Given the description of an element on the screen output the (x, y) to click on. 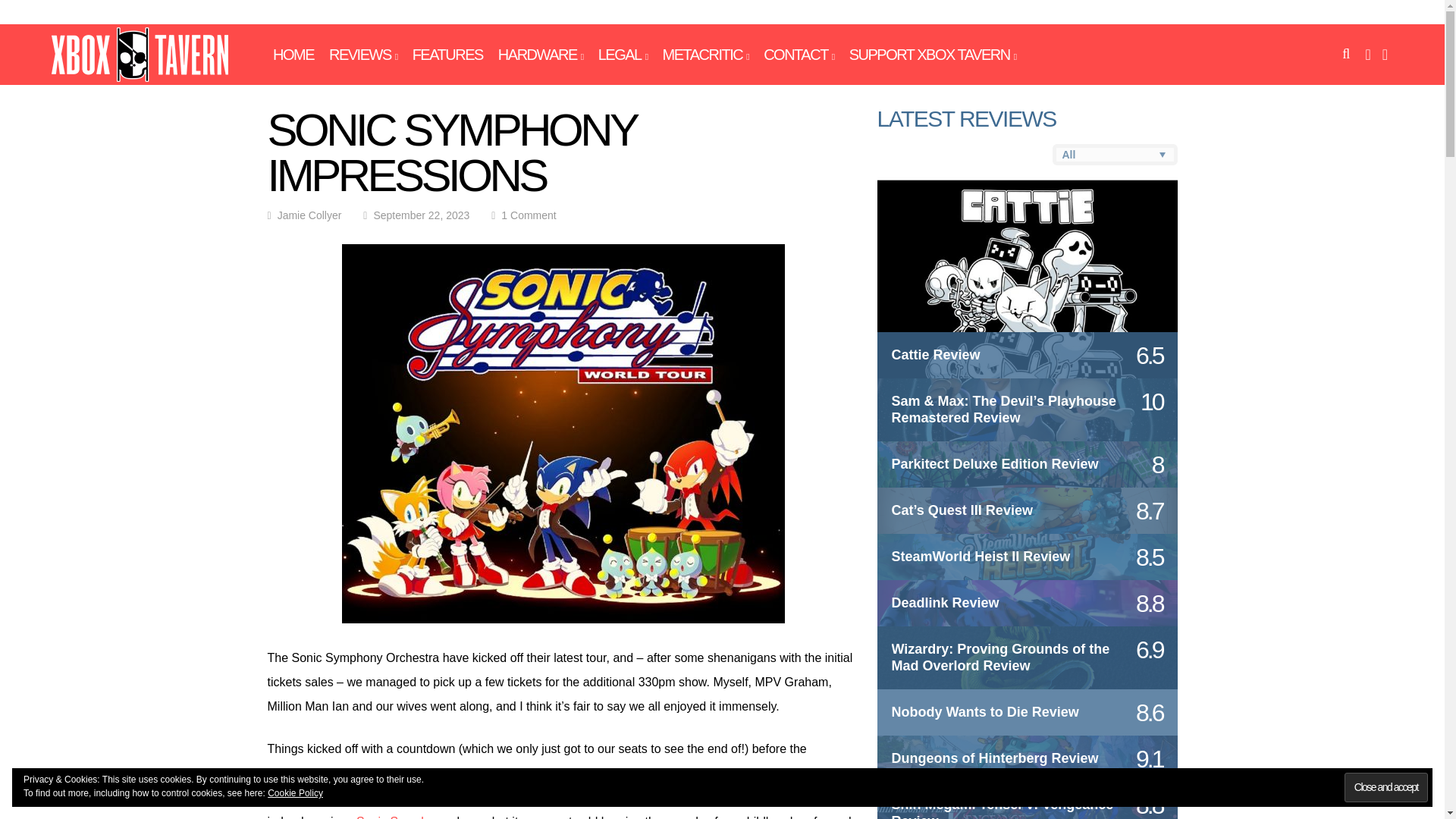
METACRITIC (705, 54)
REVIEWS (363, 54)
HOME (293, 54)
CONTACT (798, 54)
FEATURES (447, 54)
Xbox Tavern (139, 78)
SUPPORT XBOX TAVERN (932, 54)
HARDWARE (540, 54)
Close and accept (1385, 787)
LEGAL (622, 54)
